Given the description of an element on the screen output the (x, y) to click on. 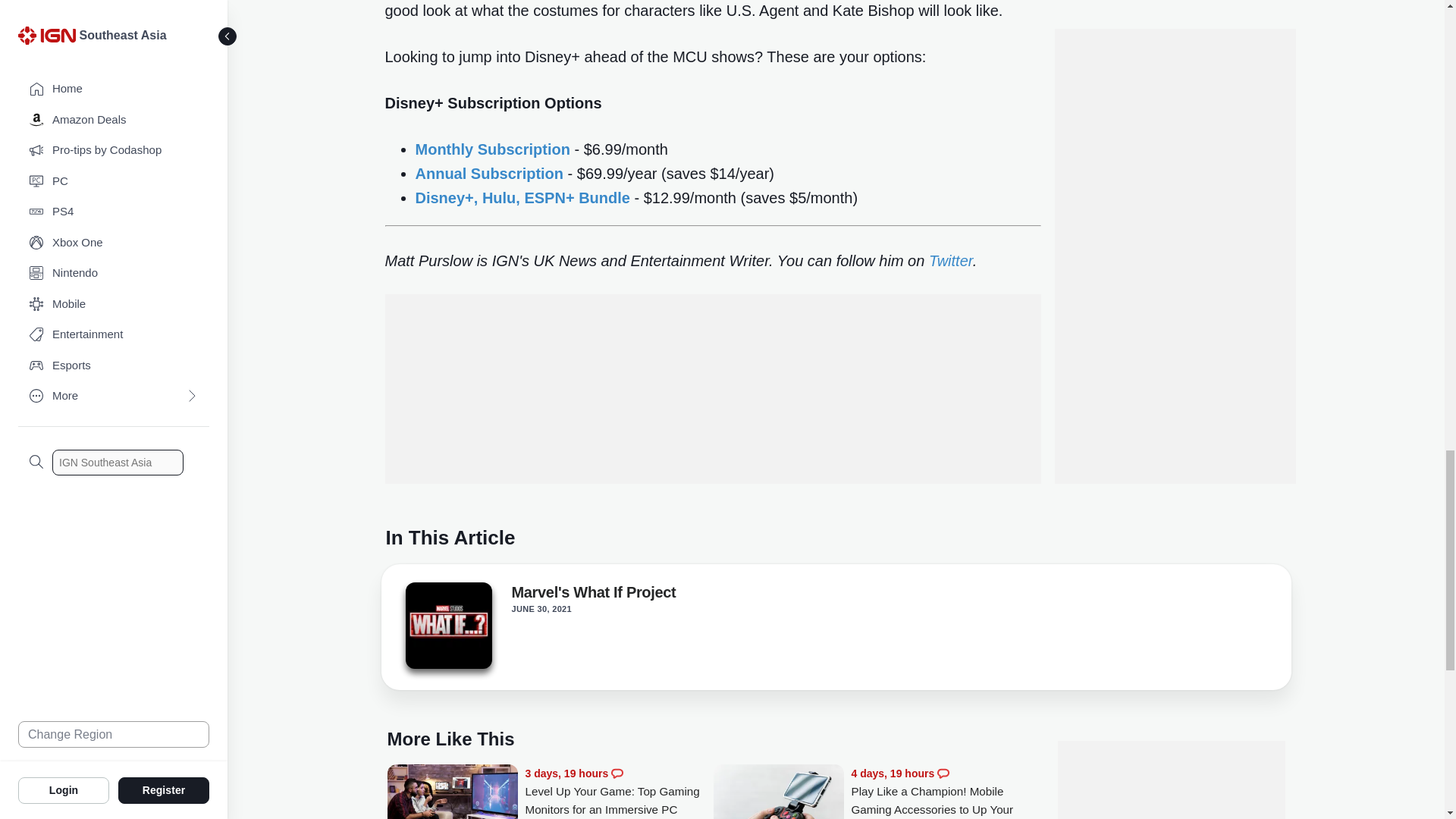
Comments (617, 773)
Comments (943, 773)
Marvel's What If Project (448, 630)
3rd party ad content (713, 389)
Marvel's What If Project (593, 594)
Marvel's What If Project (448, 625)
